Given the description of an element on the screen output the (x, y) to click on. 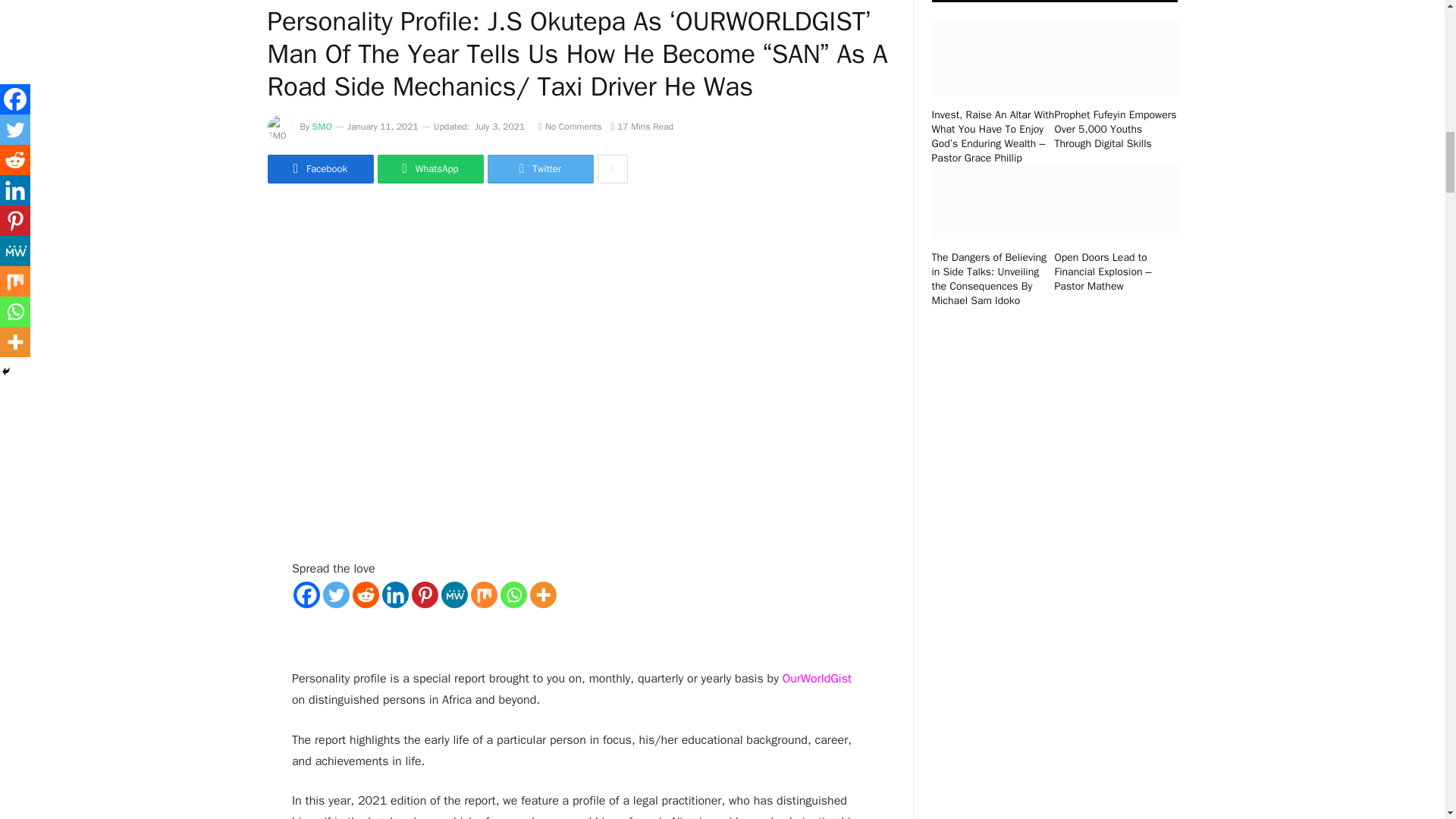
Posts by SMO (323, 126)
Show More Social Sharing (611, 168)
Share on Facebook (319, 168)
Share on WhatsApp (430, 168)
